Given the description of an element on the screen output the (x, y) to click on. 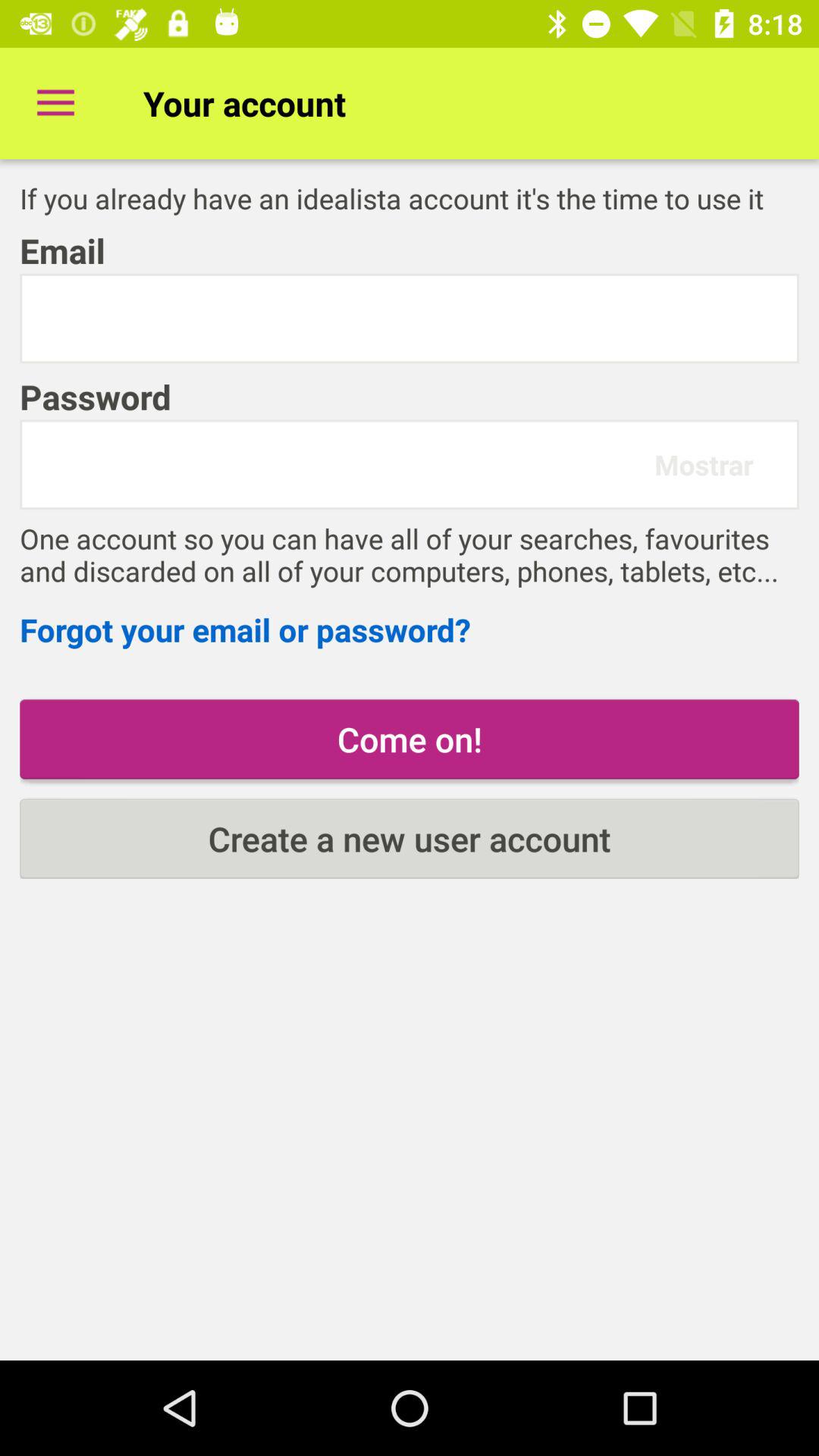
open the icon above the come on! item (409, 629)
